Given the description of an element on the screen output the (x, y) to click on. 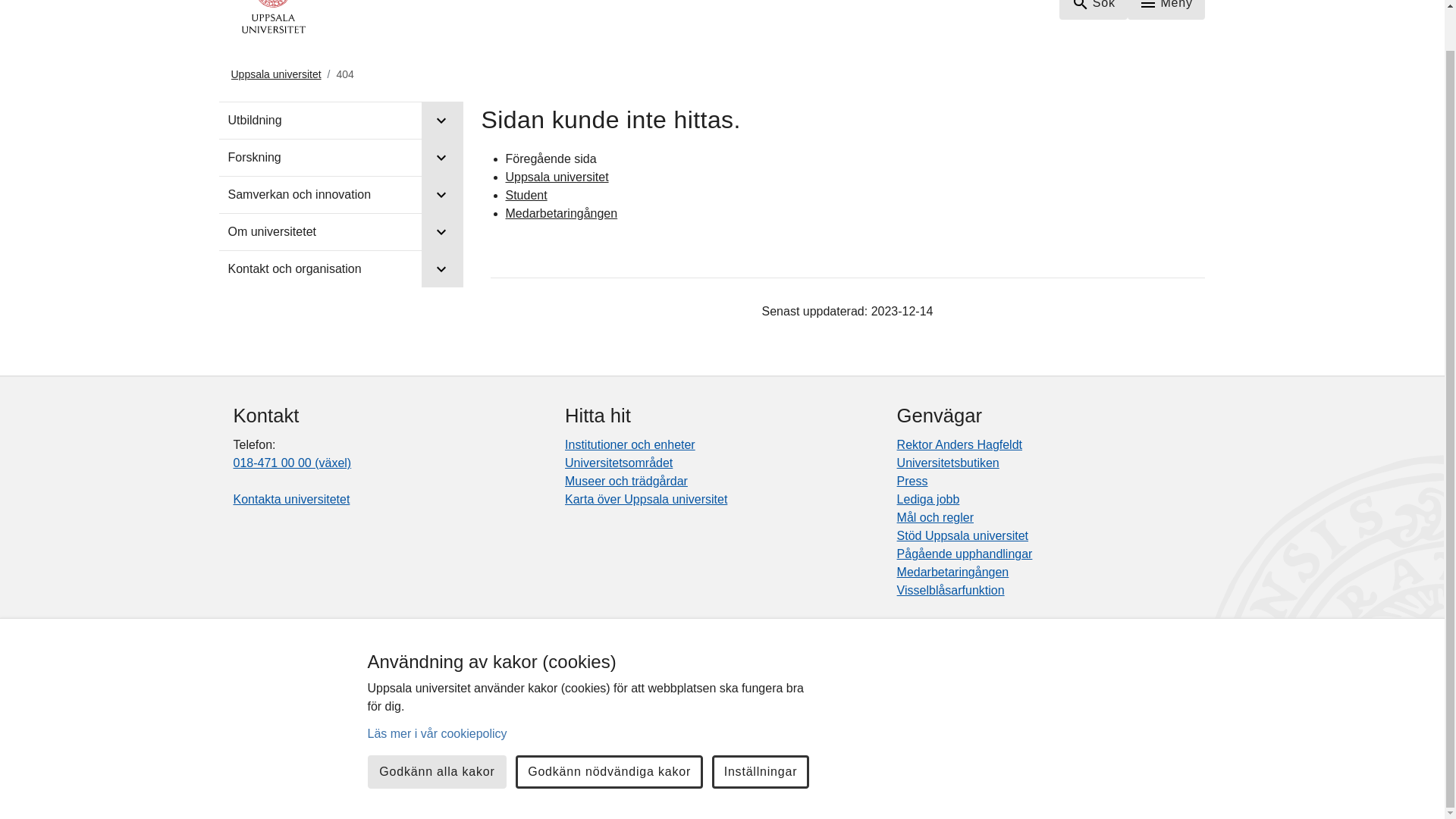
Meny (1165, 9)
